Given the description of an element on the screen output the (x, y) to click on. 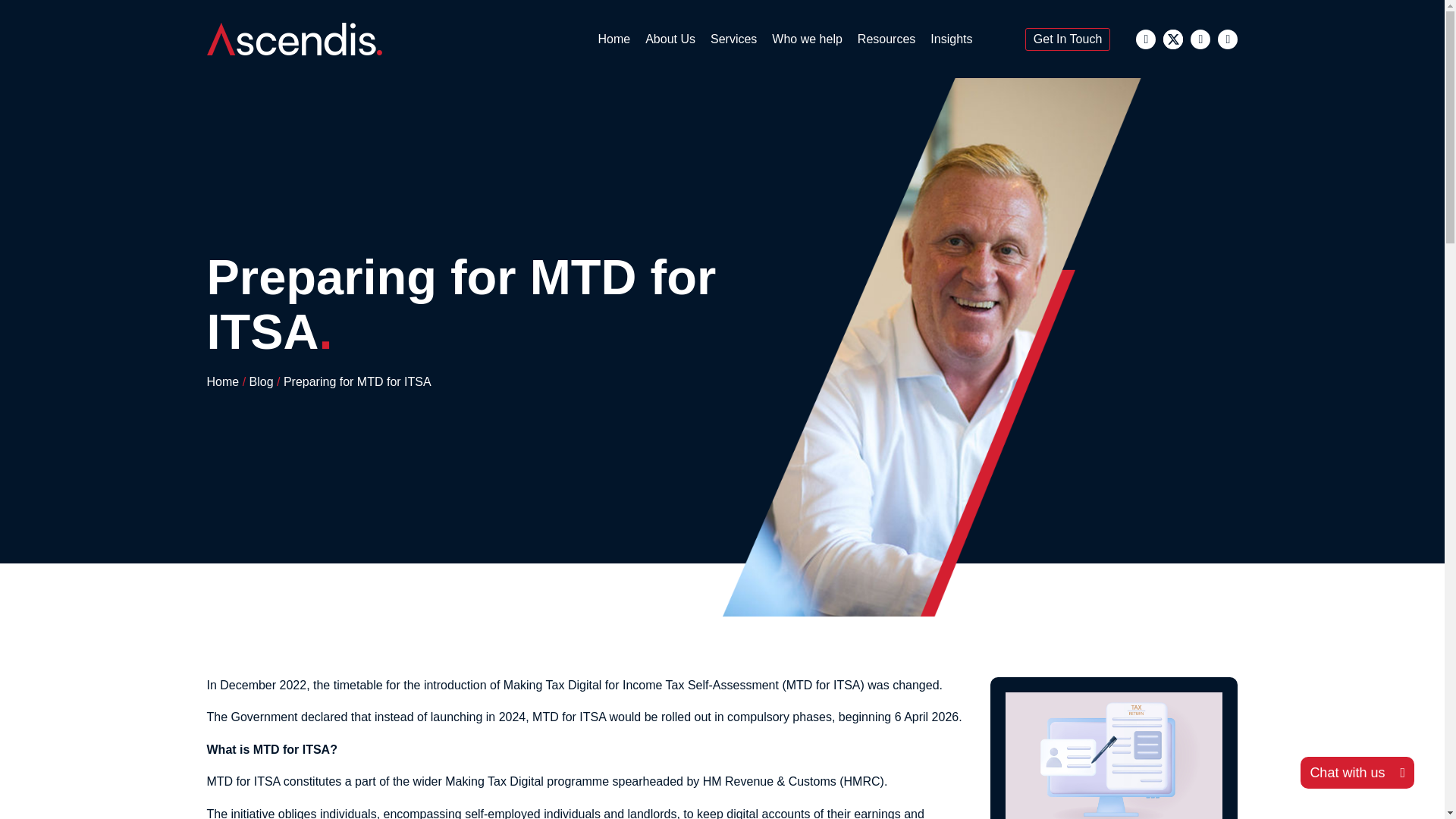
Services (733, 39)
About Us (670, 39)
Home (613, 39)
